Given the description of an element on the screen output the (x, y) to click on. 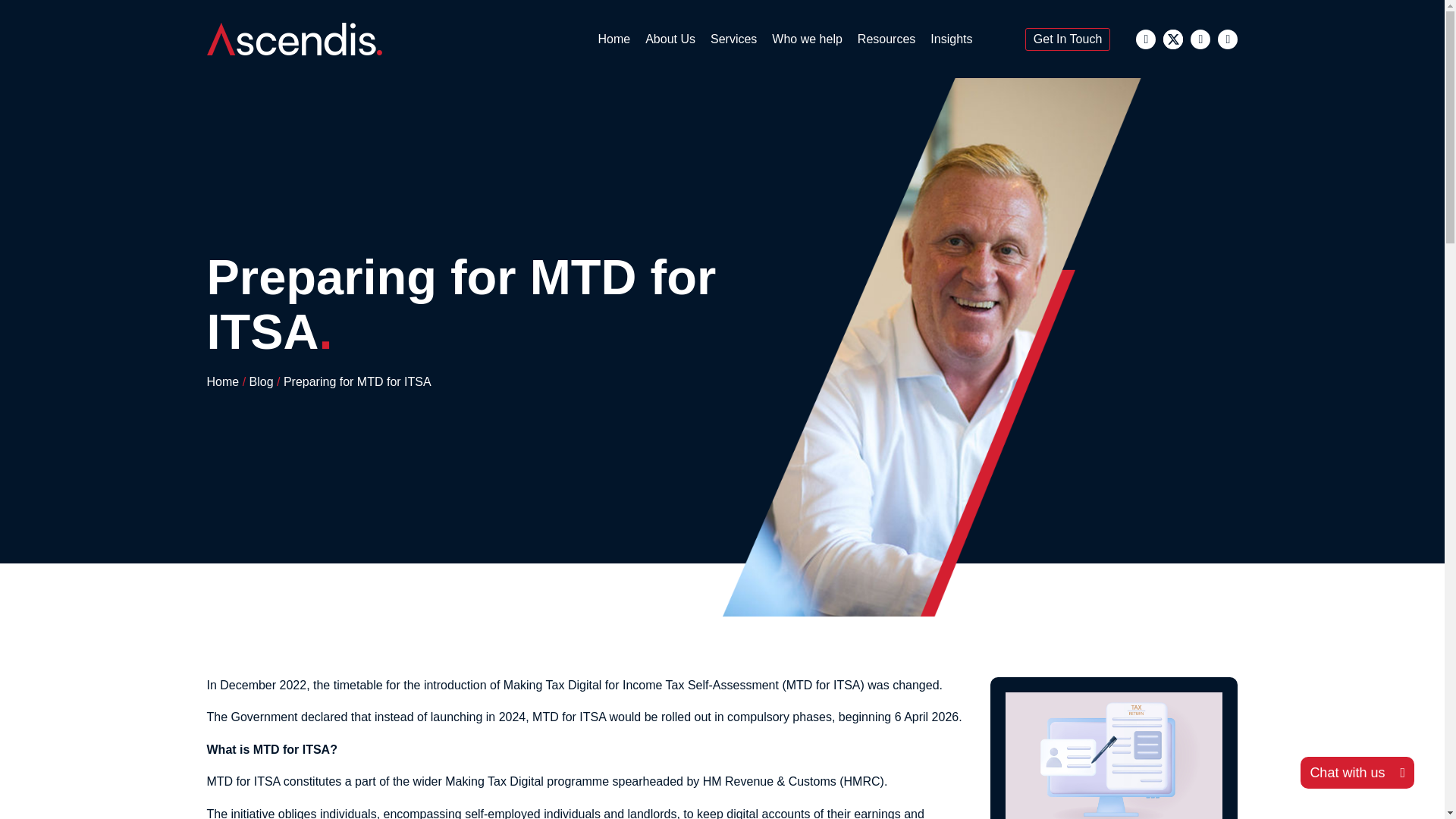
Services (733, 39)
About Us (670, 39)
Home (613, 39)
